Given the description of an element on the screen output the (x, y) to click on. 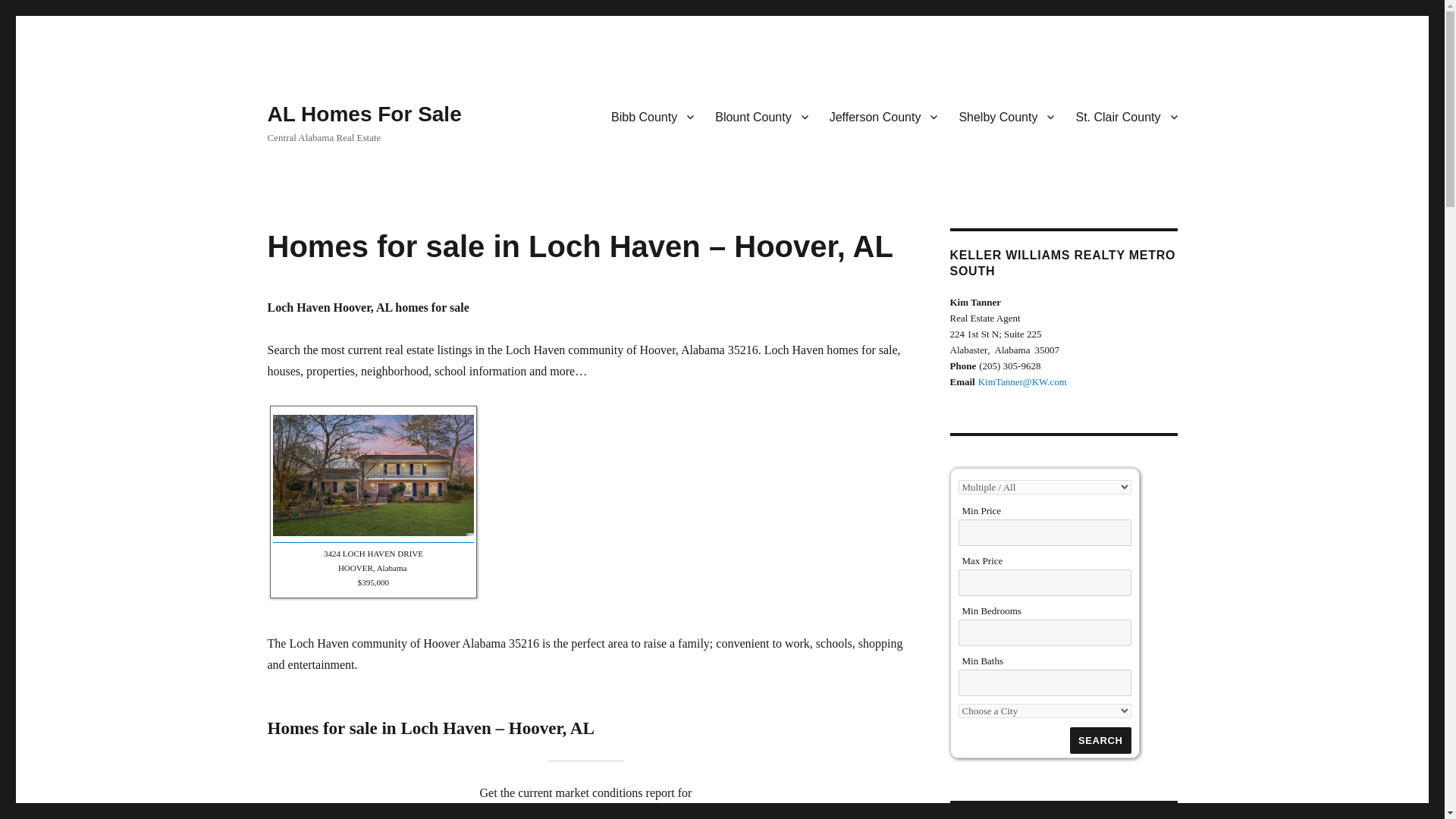
Jefferson County (883, 116)
Search (1100, 740)
AL Homes For Sale (363, 114)
Blount County (761, 116)
Bibb County (651, 116)
